Given the description of an element on the screen output the (x, y) to click on. 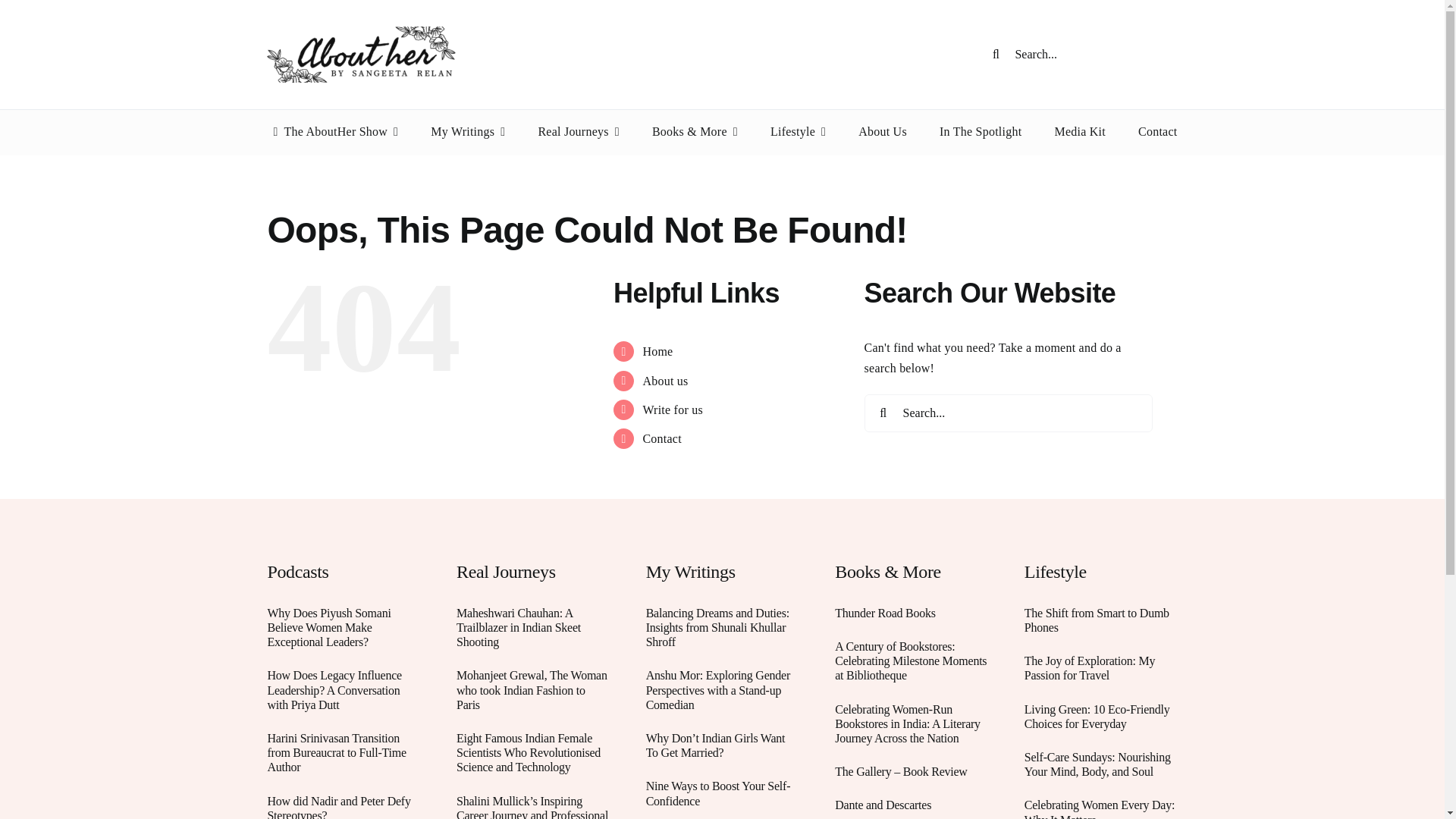
Real Journeys (577, 132)
My Writings (467, 132)
The AboutHer Show (331, 132)
Lifestyle (797, 132)
